Given the description of an element on the screen output the (x, y) to click on. 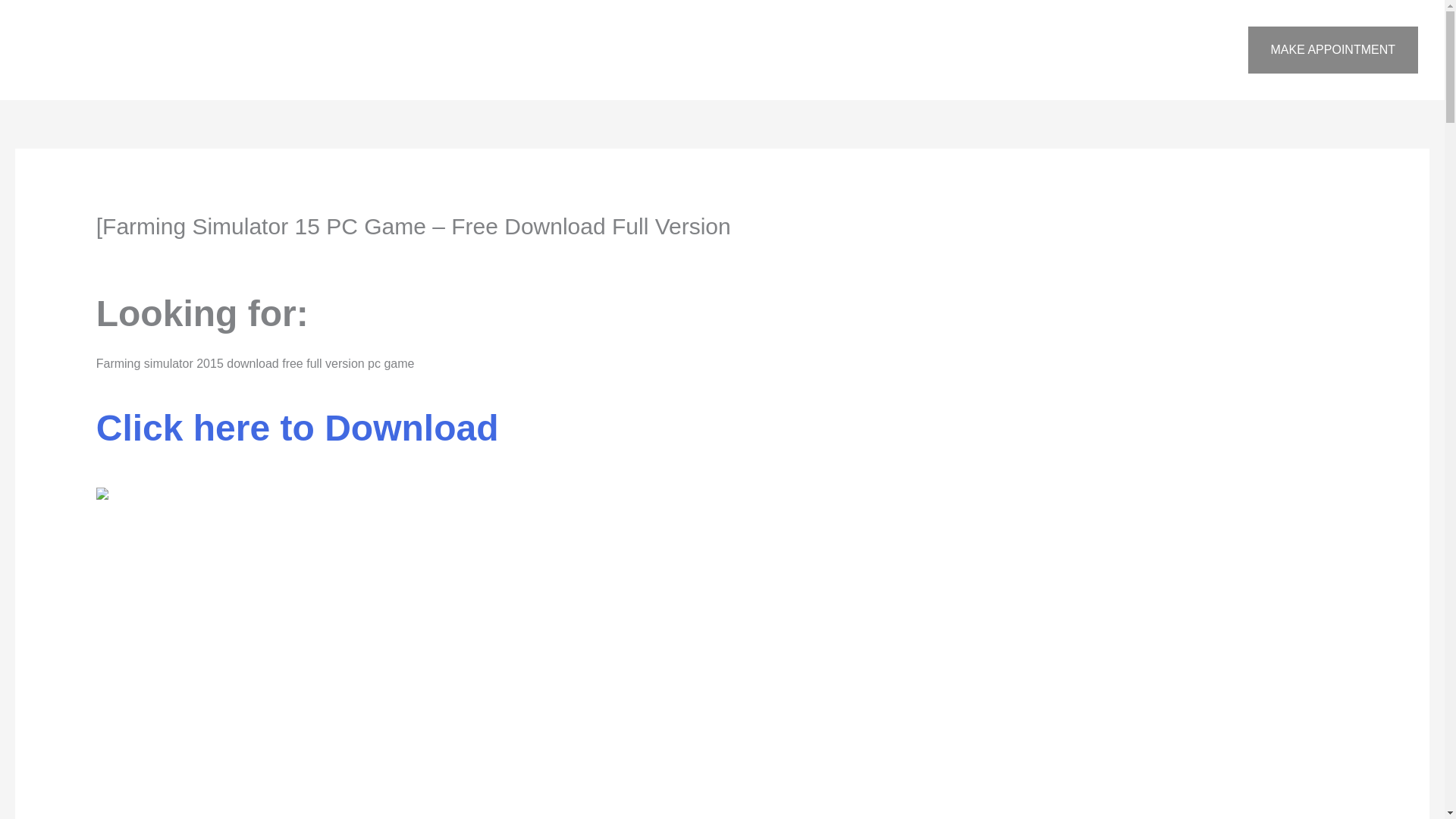
mcc (216, 256)
CONTACT US (1115, 49)
HOME (862, 49)
SERVICES (1021, 49)
ABOUT US (936, 49)
MAKE APPOINTMENT (1332, 49)
View all posts by admin (272, 256)
Click here to Download (297, 436)
admin (272, 256)
Leave a Comment (145, 256)
BLOGS (1198, 49)
